Given the description of an element on the screen output the (x, y) to click on. 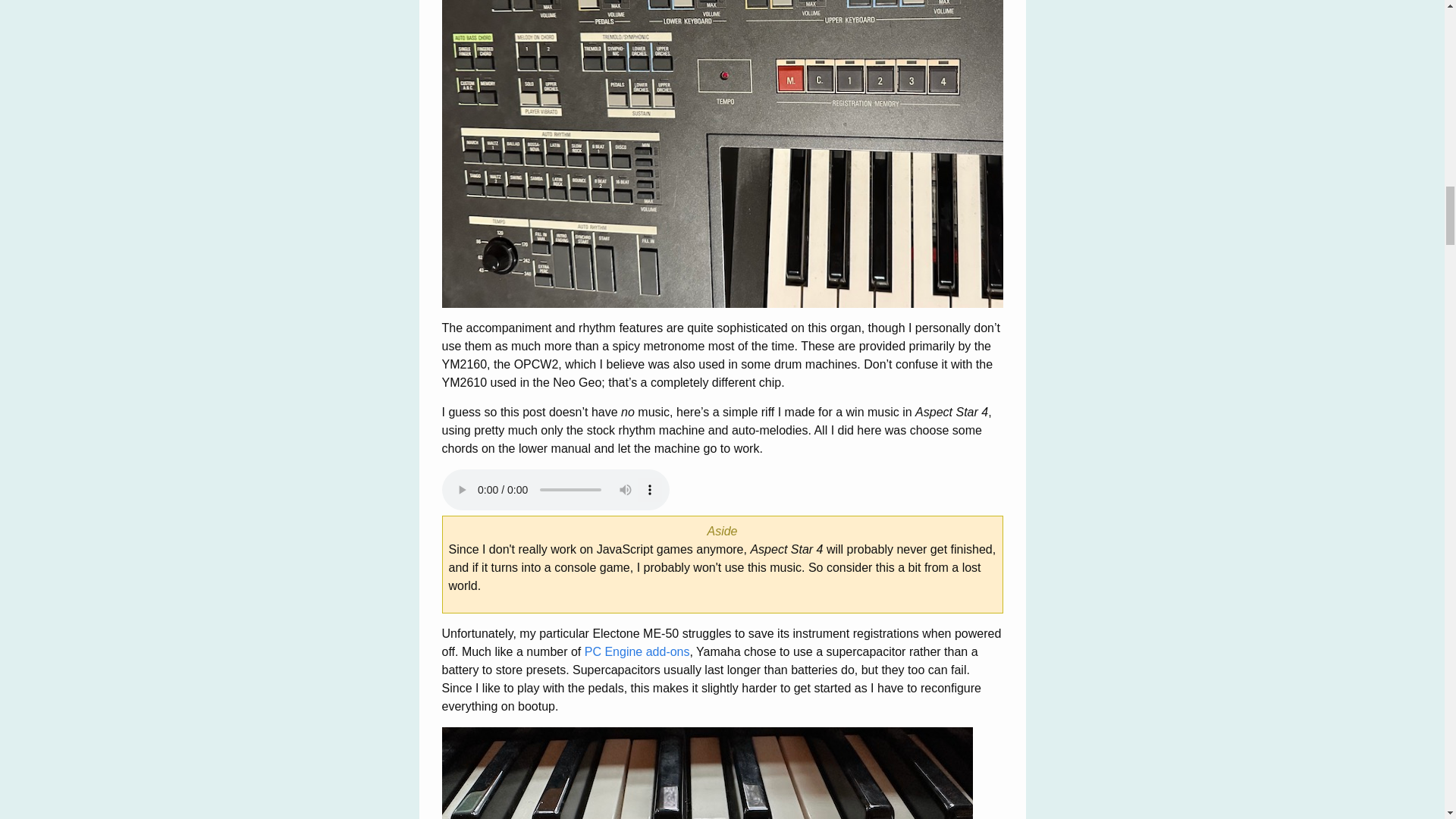
PC Engine add-ons (637, 651)
don't be sad (706, 773)
